Given the description of an element on the screen output the (x, y) to click on. 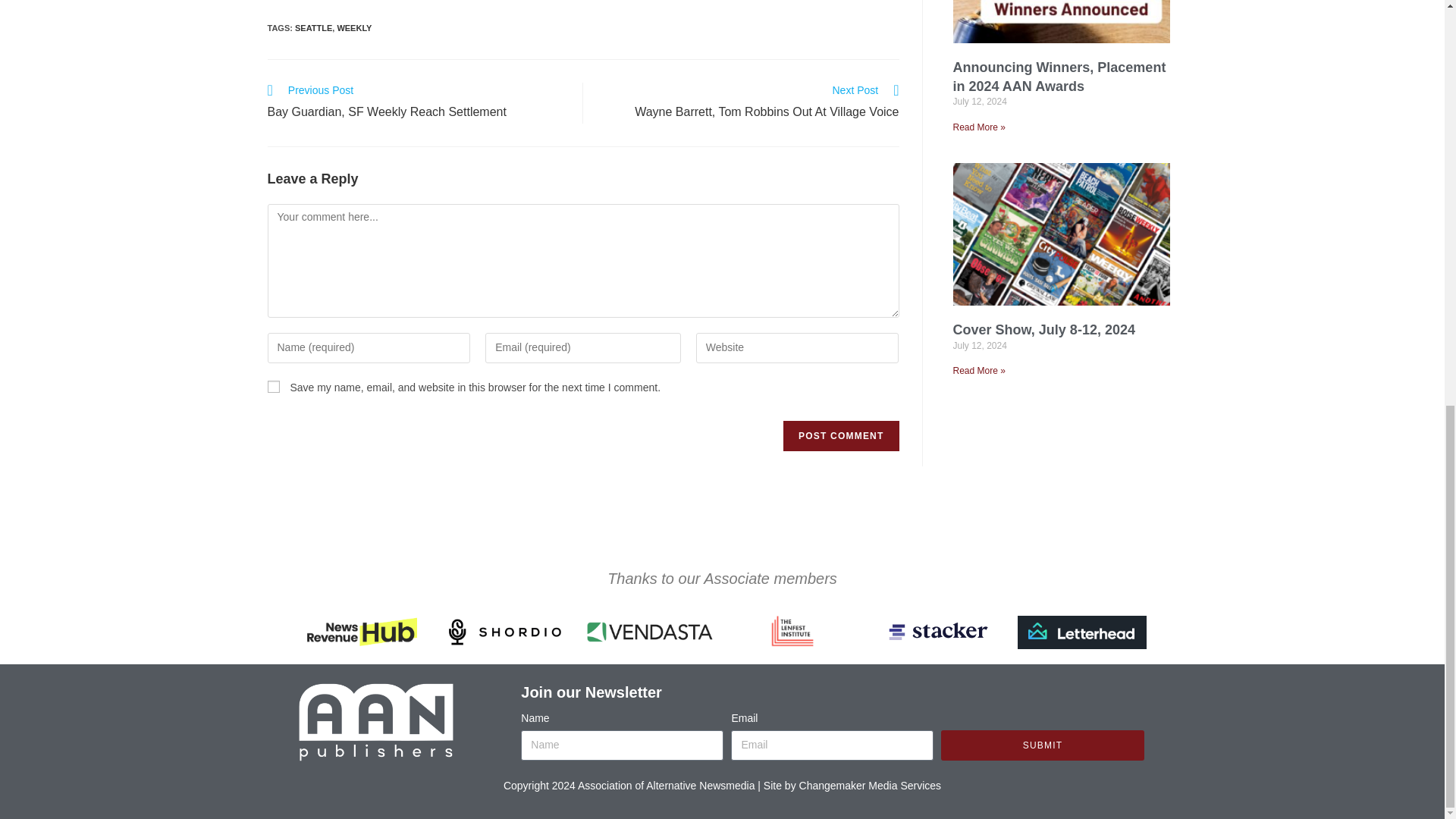
Post Comment (840, 435)
yes (272, 386)
